Given the description of an element on the screen output the (x, y) to click on. 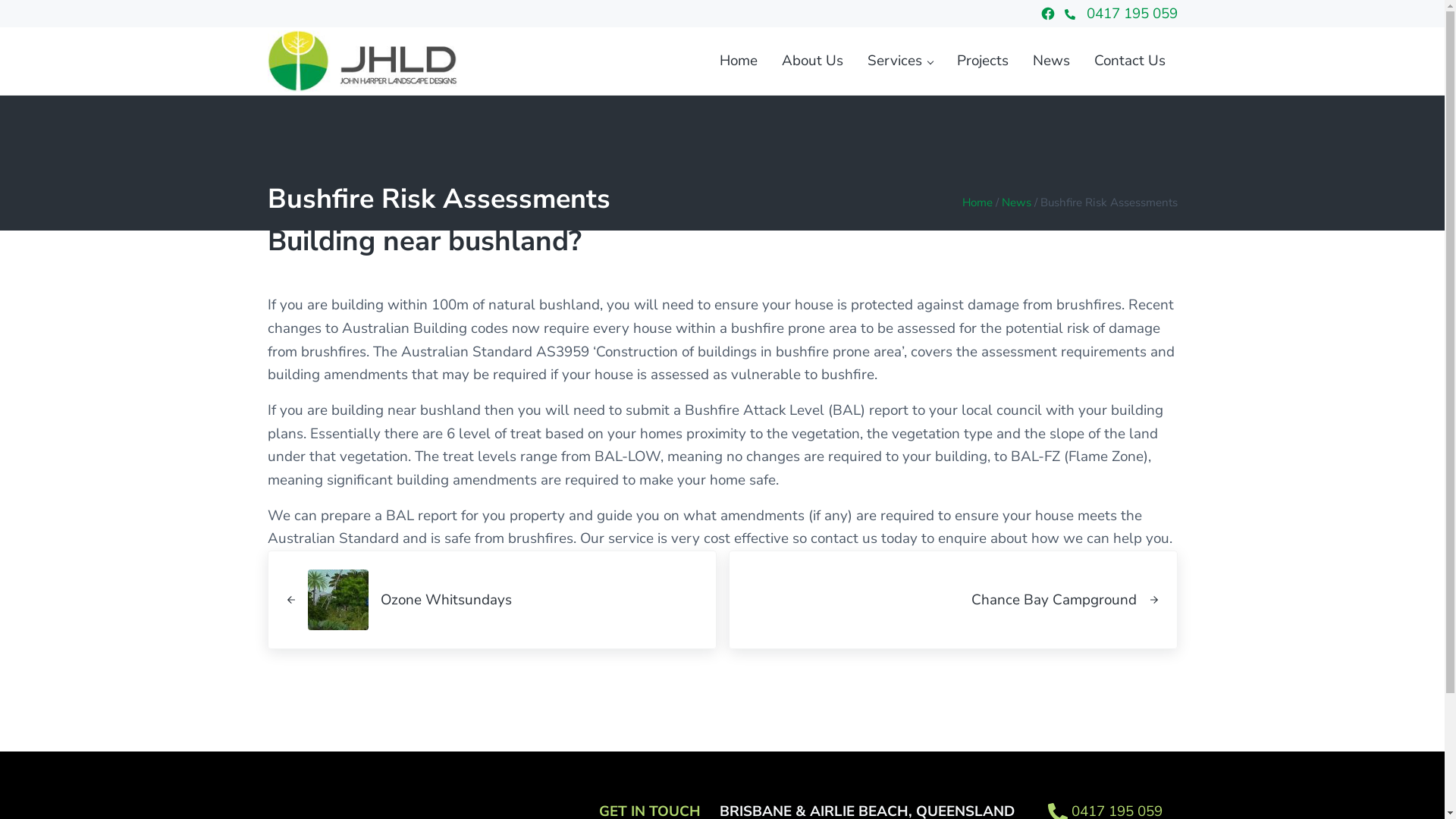
Next Post:
Chance Bay Campground Element type: text (952, 599)
0417 195 059 Element type: text (1124, 13)
Contact Us Element type: text (1128, 60)
About Us Element type: text (811, 60)
Services Element type: text (899, 60)
Home Element type: text (737, 60)
Home Element type: text (976, 202)
Skip to main content Element type: text (0, 0)
News Element type: text (1051, 60)
News Element type: text (1015, 202)
Facebook Element type: text (1047, 13)
Projects Element type: text (982, 60)
Previous Post:
Ozone Whitsundays Element type: text (490, 599)
